Given the description of an element on the screen output the (x, y) to click on. 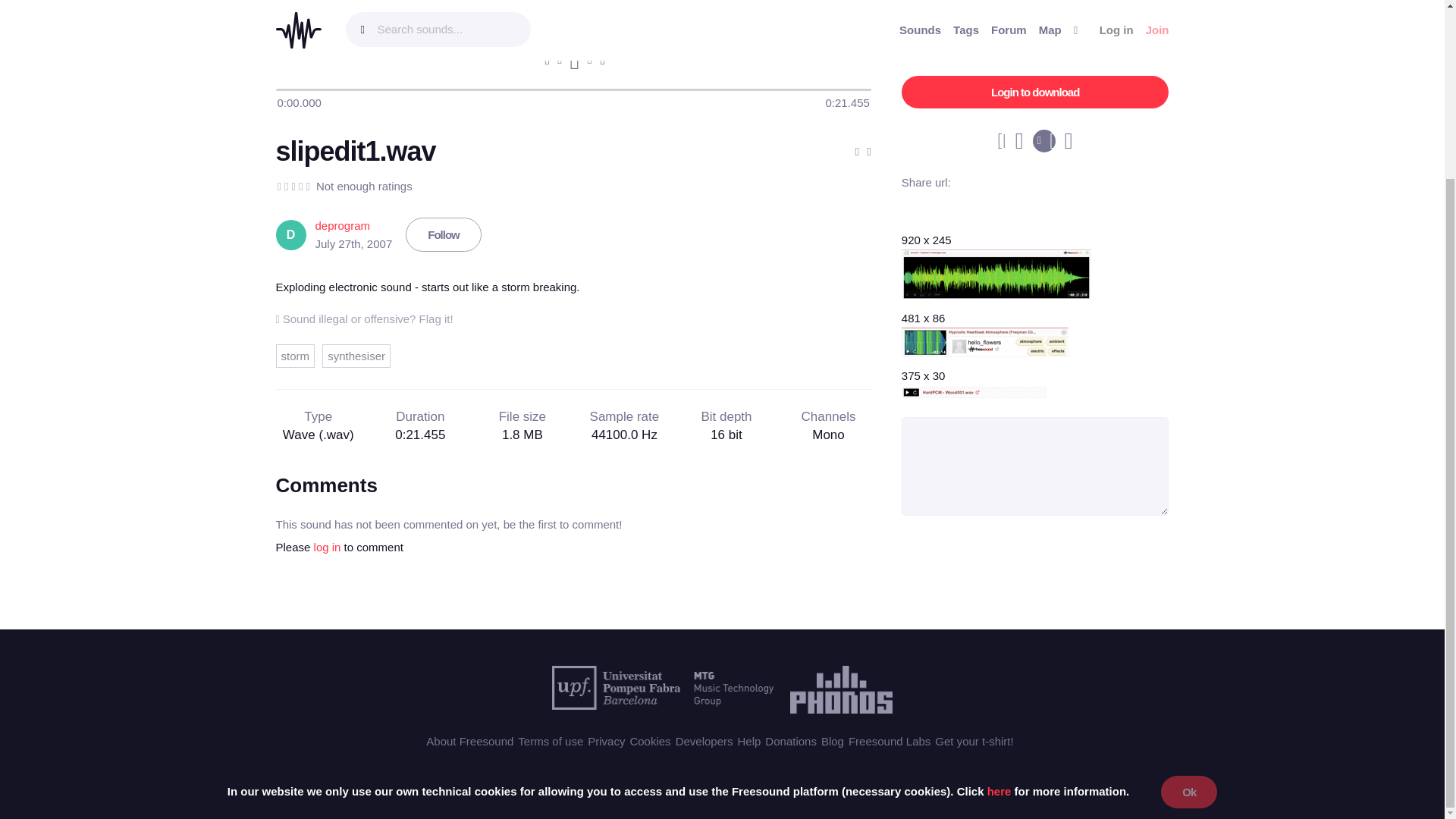
Ok (1188, 573)
Sound illegal or offensive? Flag it! (364, 318)
here (999, 572)
Follow (443, 234)
storm (295, 355)
Flag this sound as illegal, offensive or other... (364, 318)
deprogram (343, 225)
slipedit1.wav (355, 151)
Average rating not shown as there are not enough ratings (293, 186)
synthesiser (355, 355)
